Given the description of an element on the screen output the (x, y) to click on. 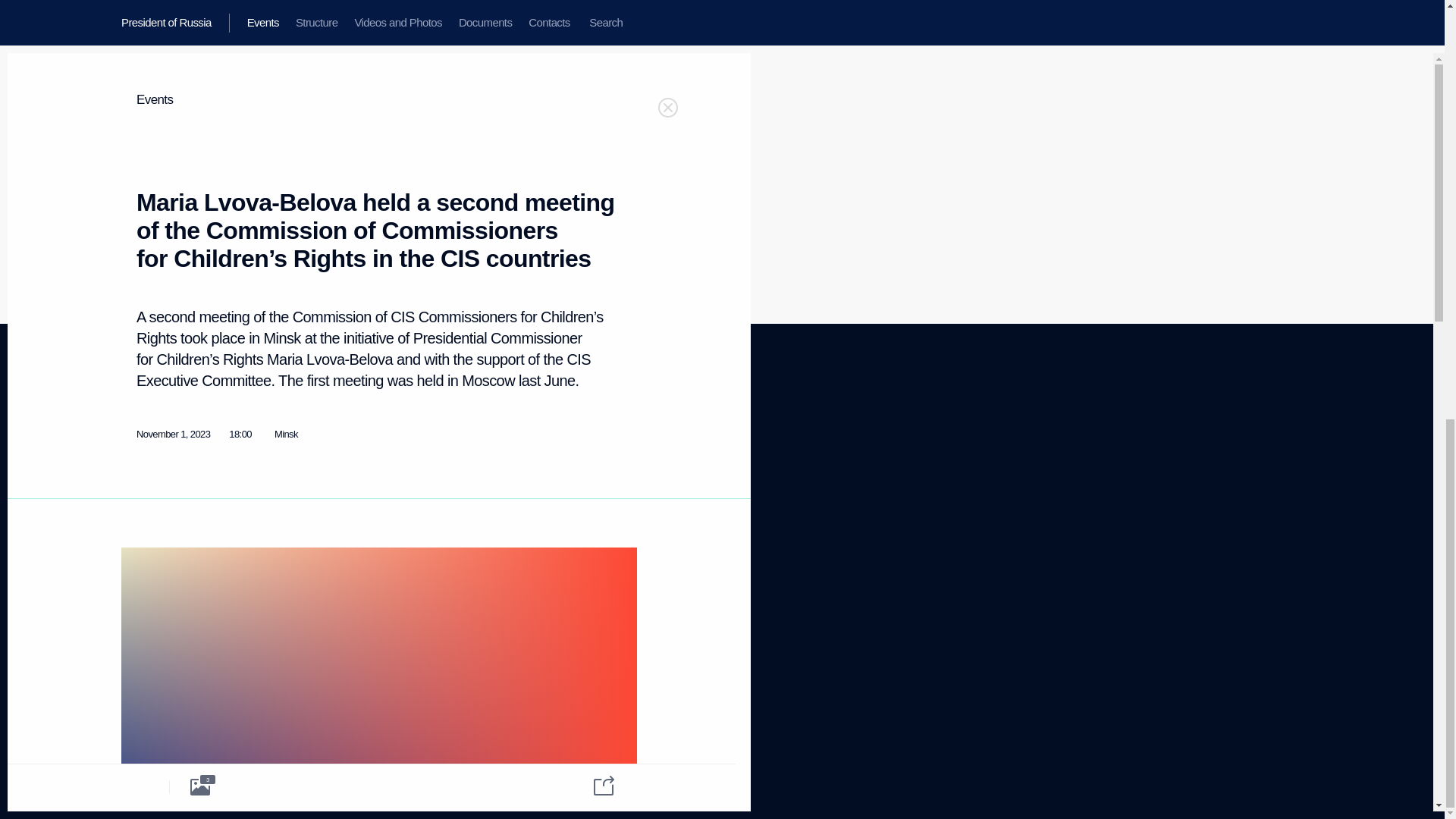
About website (558, 440)
Videos and Photos (158, 478)
Version for People with Disabilities (165, 668)
Events (134, 440)
Personal data of website users (317, 447)
For the Media (579, 485)
Structure (148, 571)
Using website content (138, 460)
Contact website team (574, 460)
YouTube Channel (573, 510)
Contacts (429, 474)
Directory (138, 516)
Maria Lvova-Belova (138, 625)
Creative Commons Attribution 4.0 International (364, 191)
